Given the description of an element on the screen output the (x, y) to click on. 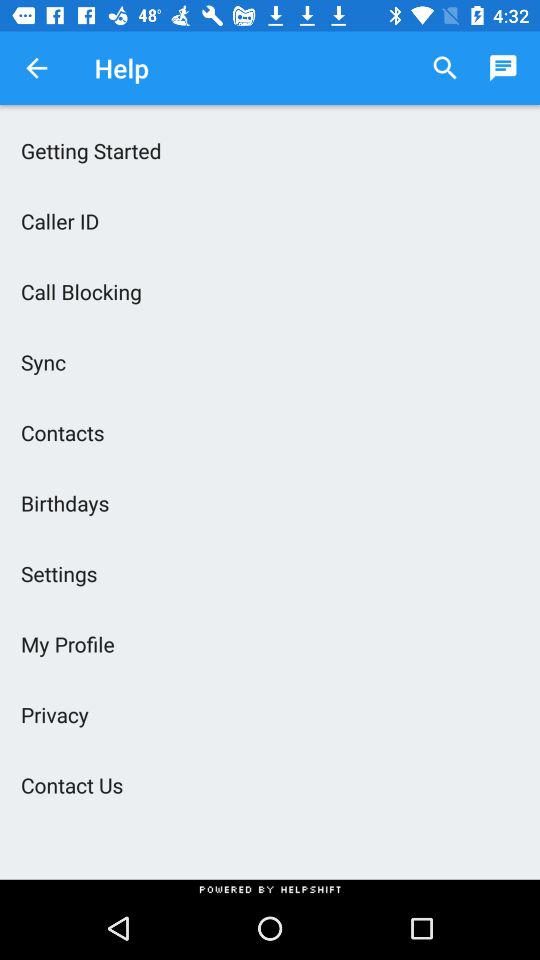
turn on item below settings (270, 643)
